Given the description of an element on the screen output the (x, y) to click on. 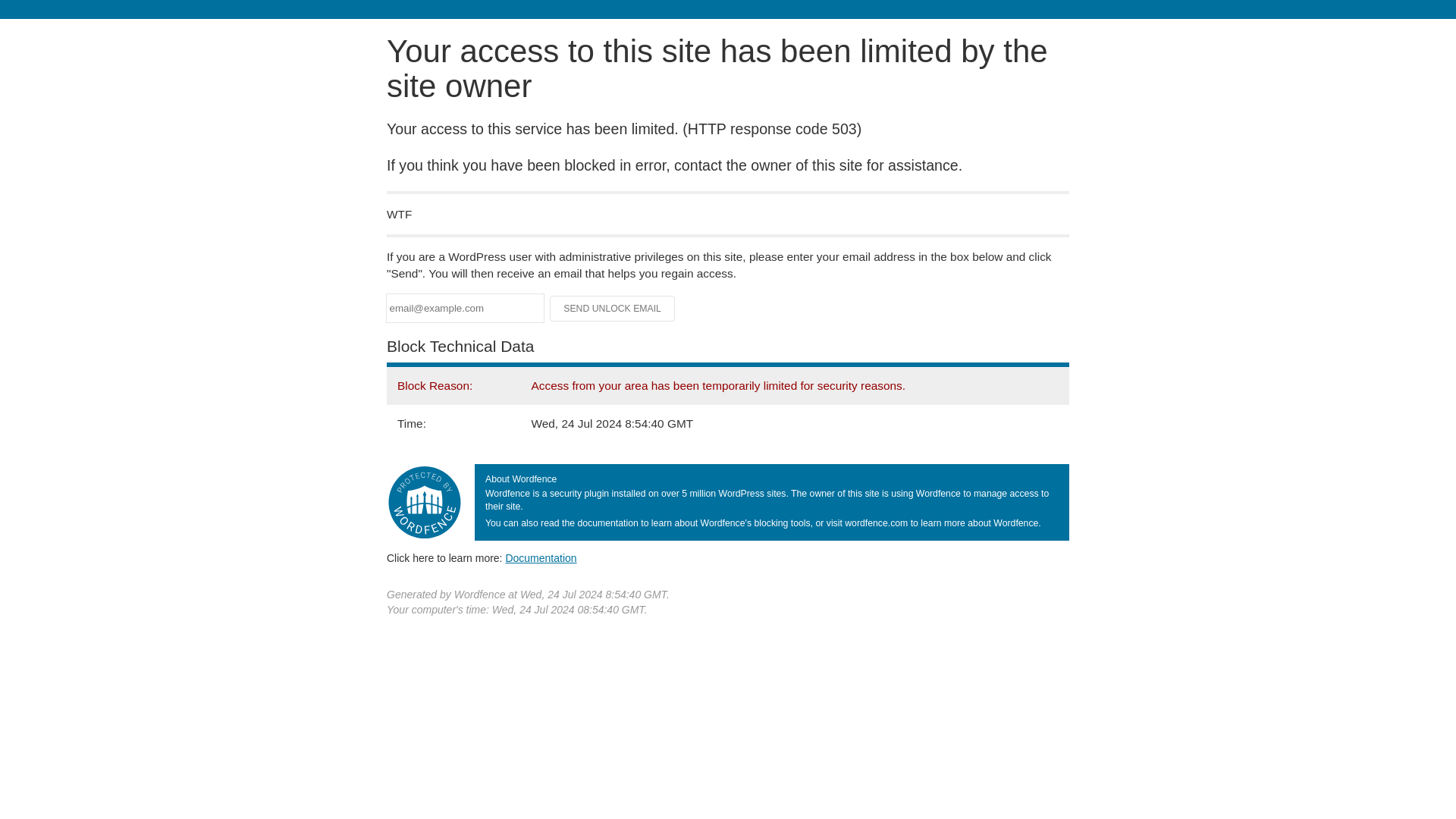
Send Unlock Email (612, 308)
Send Unlock Email (612, 308)
Documentation (540, 558)
